Given the description of an element on the screen output the (x, y) to click on. 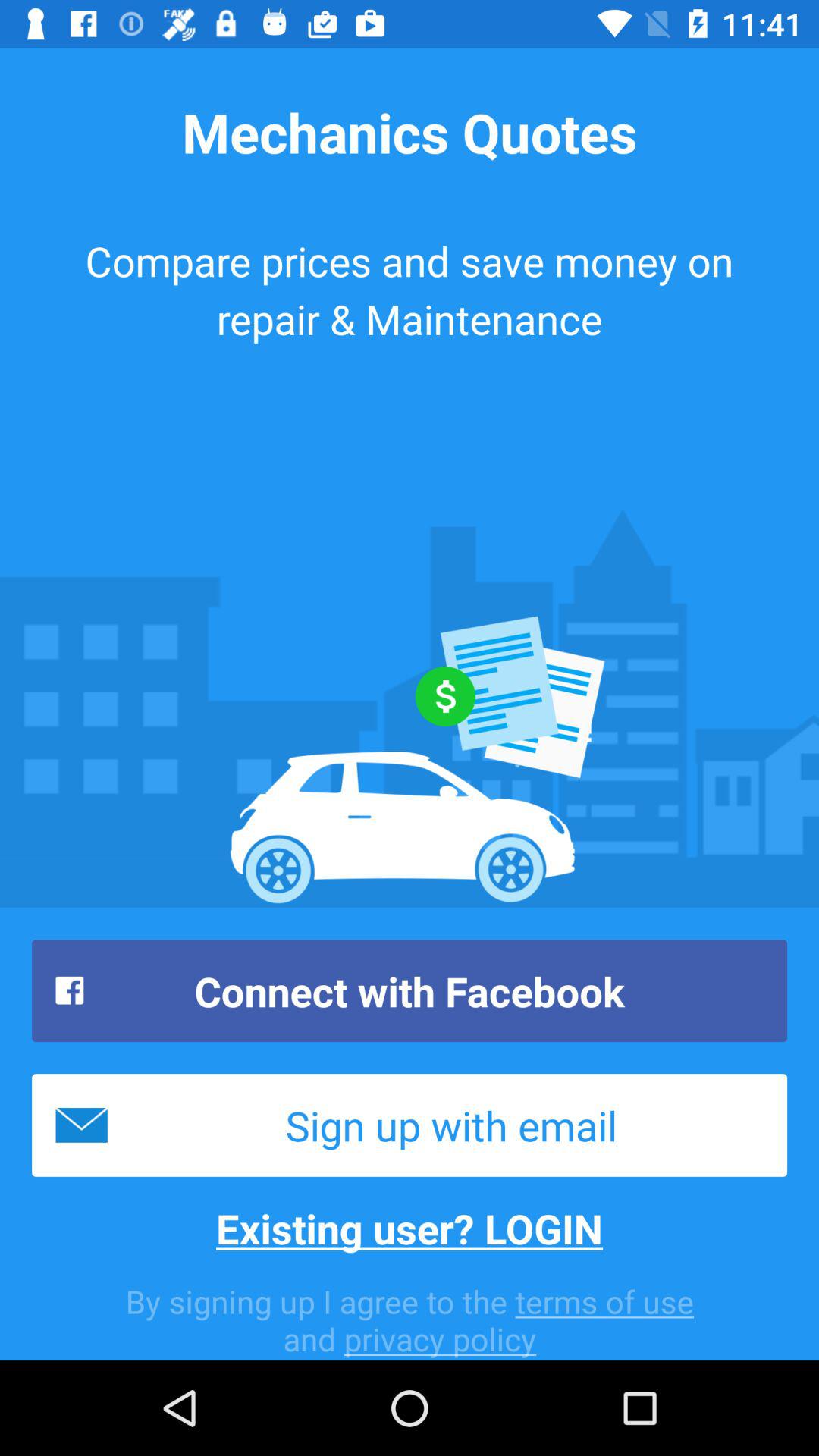
press icon below connect with facebook (409, 1124)
